Given the description of an element on the screen output the (x, y) to click on. 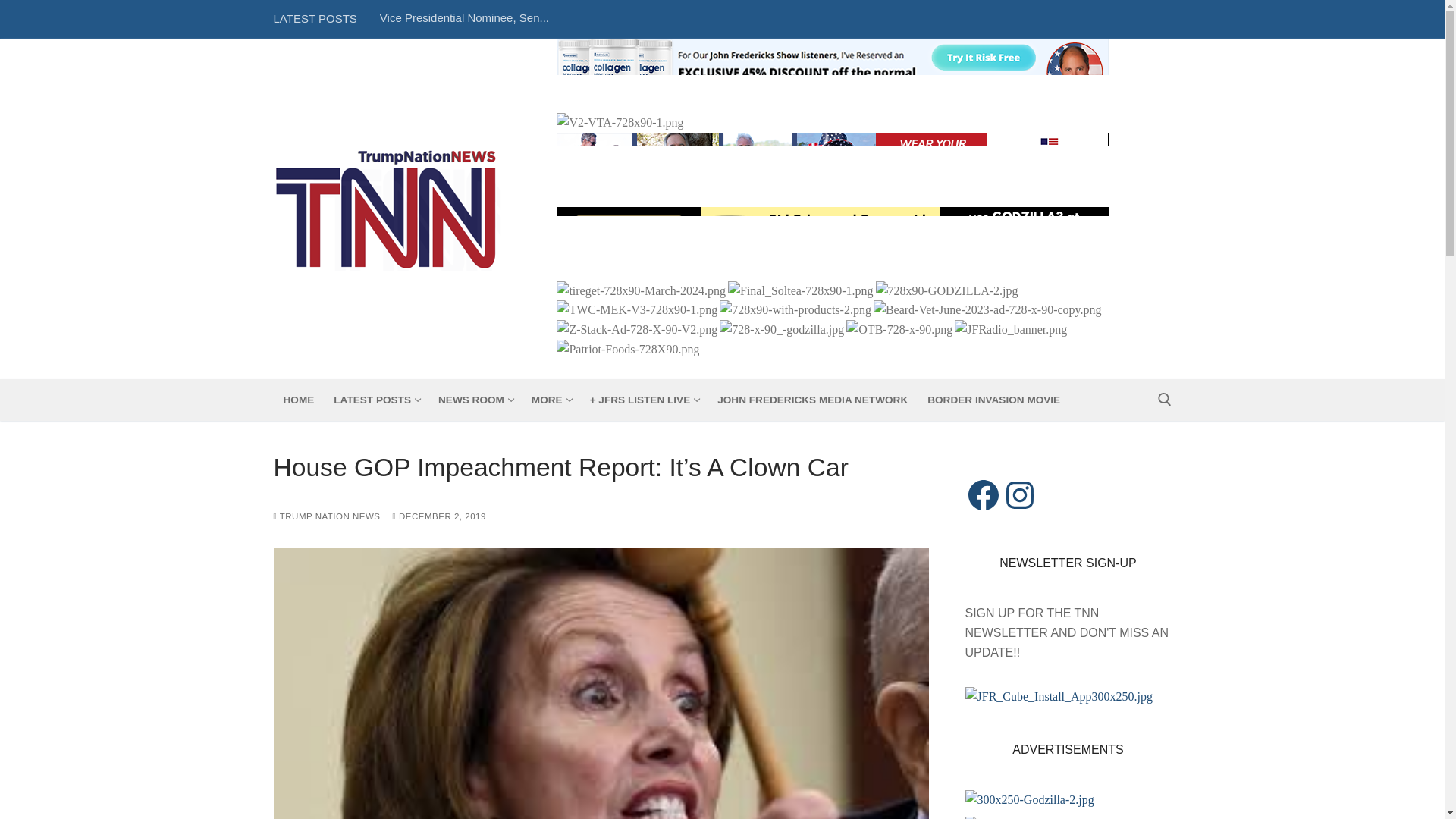
Vice Presidential Nominee, Sen... (474, 399)
HOME (464, 17)
LATEST POSTS (550, 399)
